Given the description of an element on the screen output the (x, y) to click on. 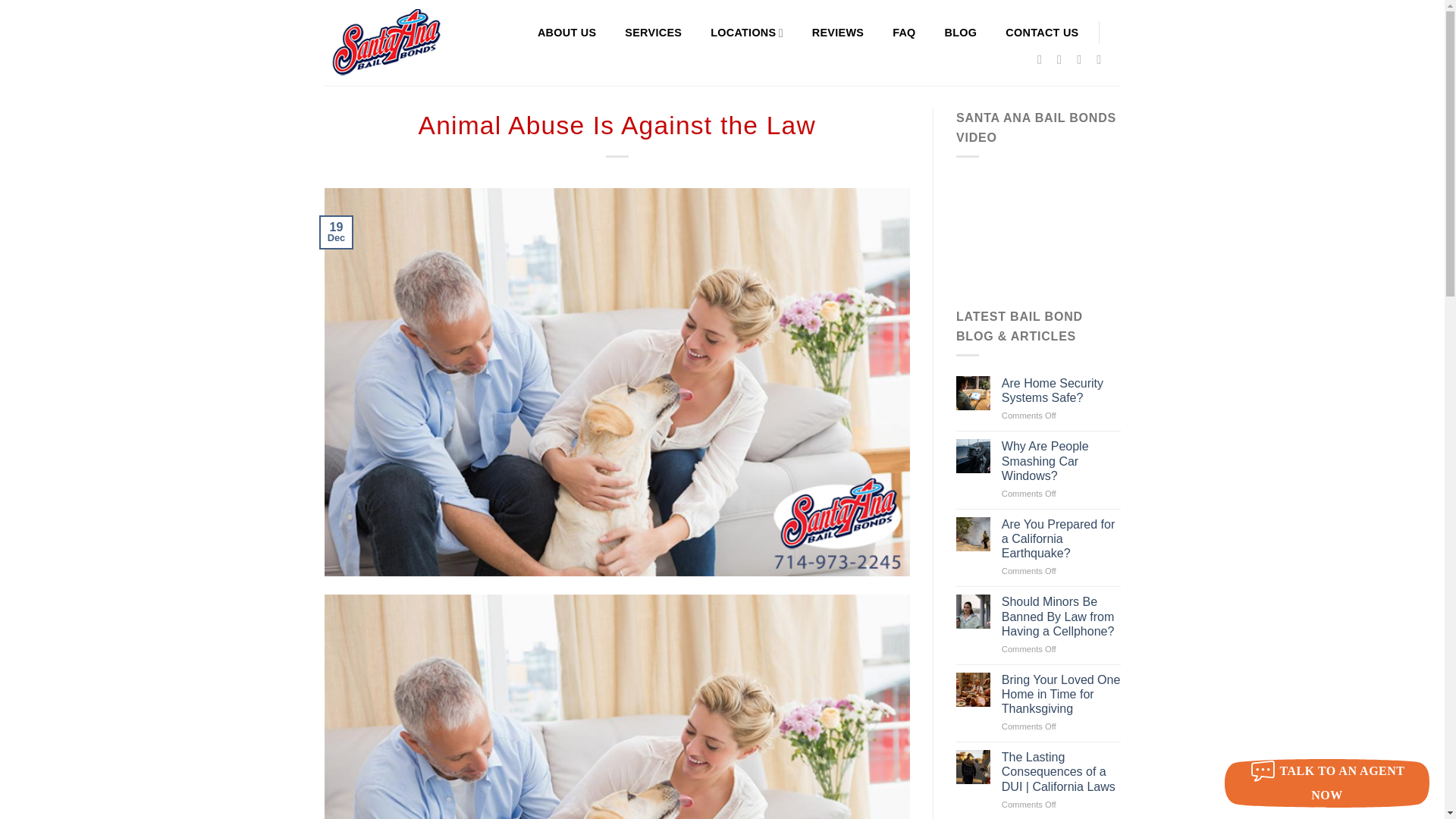
SERVICES (652, 32)
ABOUT US (566, 32)
Bring Your Loved One Home in Time for Thanksgiving (1061, 694)
Should Minors Be Banned By Law from Having a Cellphone? (1061, 616)
BLOG (960, 32)
Why Are People Smashing Car Windows? (1061, 460)
CONTACT US (1042, 32)
Are You Prepared for a California Earthquake? (1061, 538)
REVIEWS (837, 32)
Are Home Security Systems Safe? (1061, 389)
LOCATIONS (746, 32)
